Given the description of an element on the screen output the (x, y) to click on. 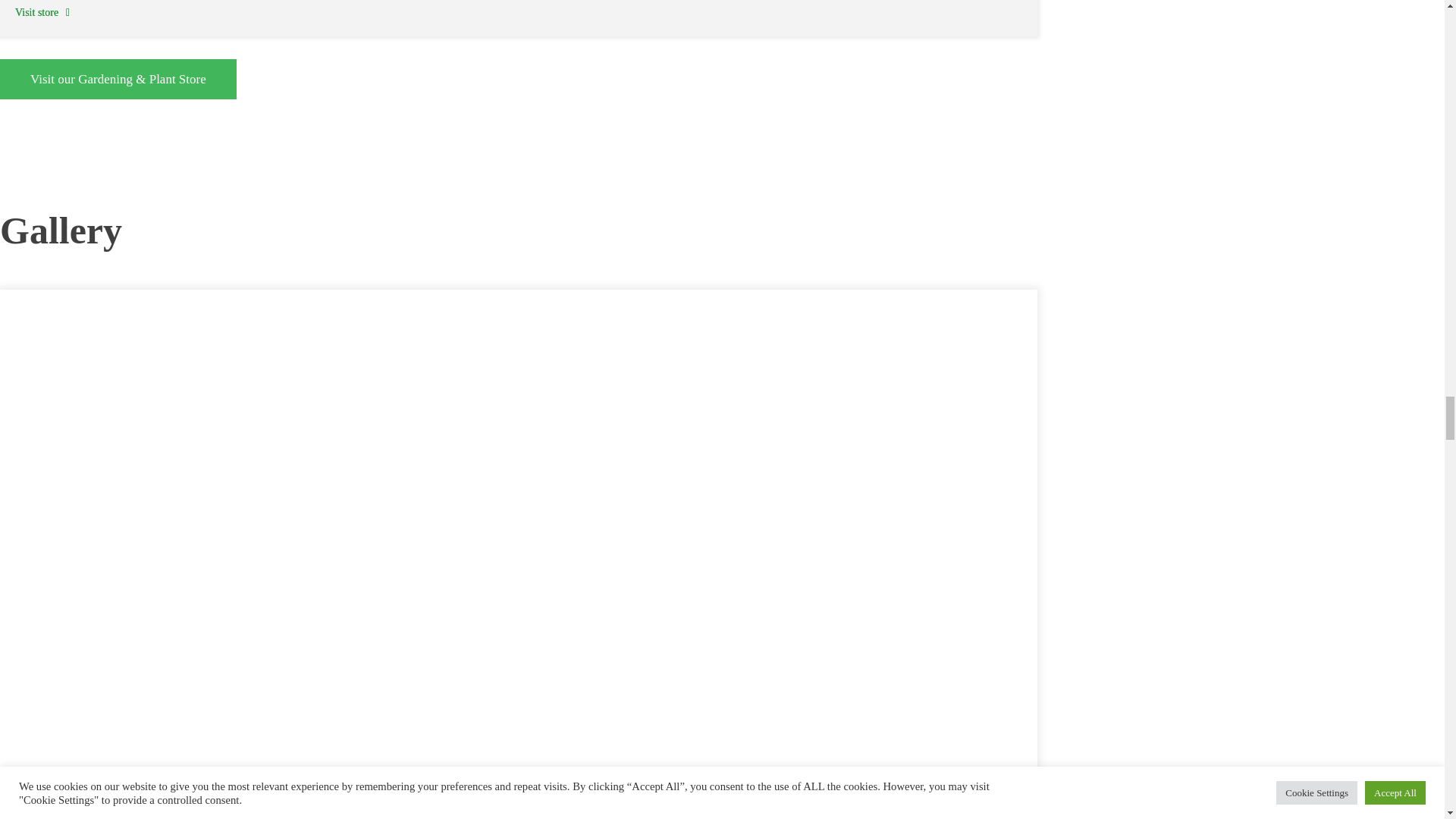
Visit store (41, 12)
